Given the description of an element on the screen output the (x, y) to click on. 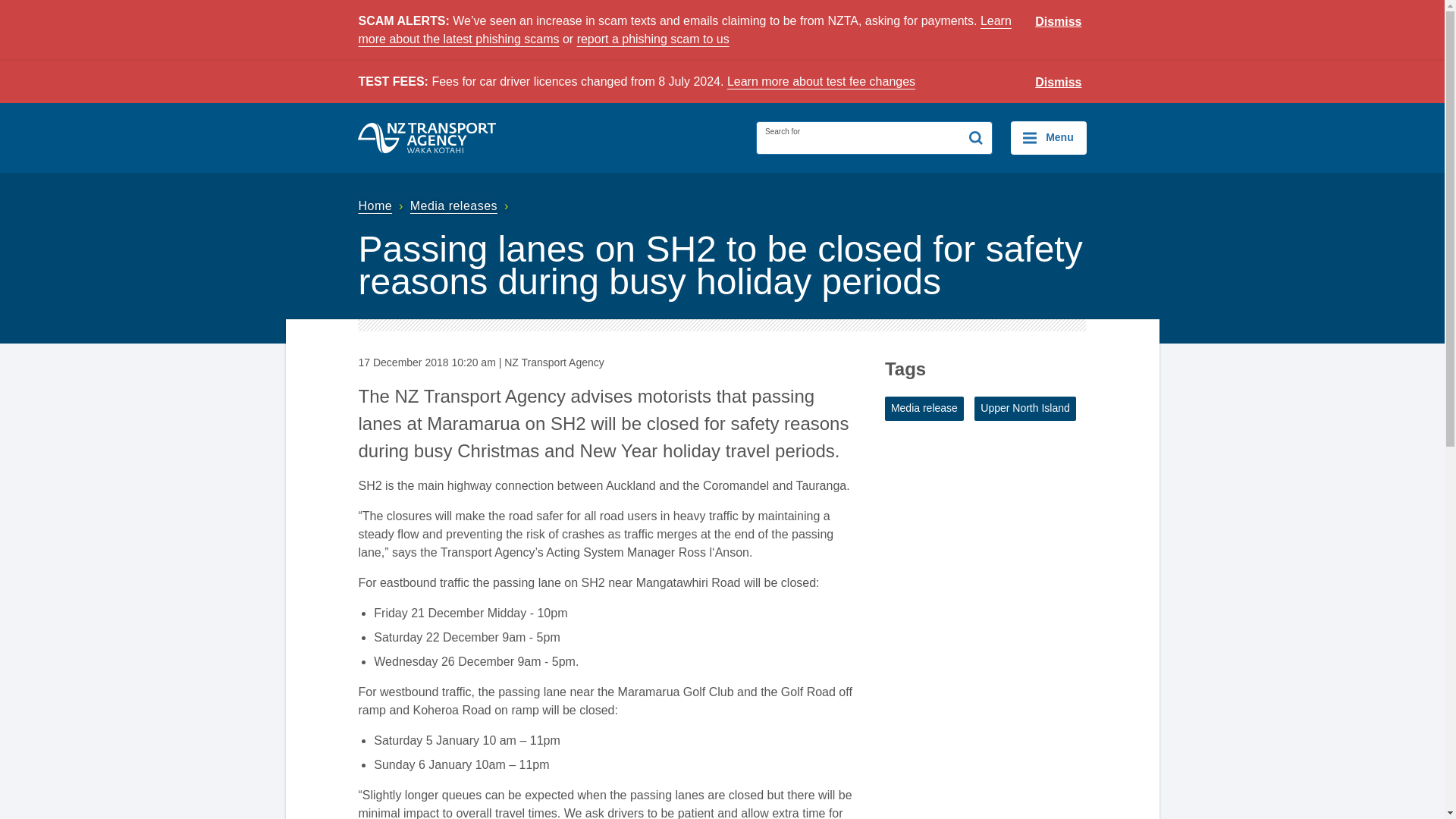
report a phishing scam to us (652, 38)
View all posts tagged 'Upper North Island' (1024, 408)
Learn more about the latest phishing scams (684, 29)
Menu (1048, 137)
View all posts tagged 'Media release' (924, 408)
Learn more about test fee changes (820, 81)
NZ Transport Agency Waka Kotahi (427, 137)
Home (382, 205)
Dismiss (1058, 21)
Dismiss (1058, 82)
